Given the description of an element on the screen output the (x, y) to click on. 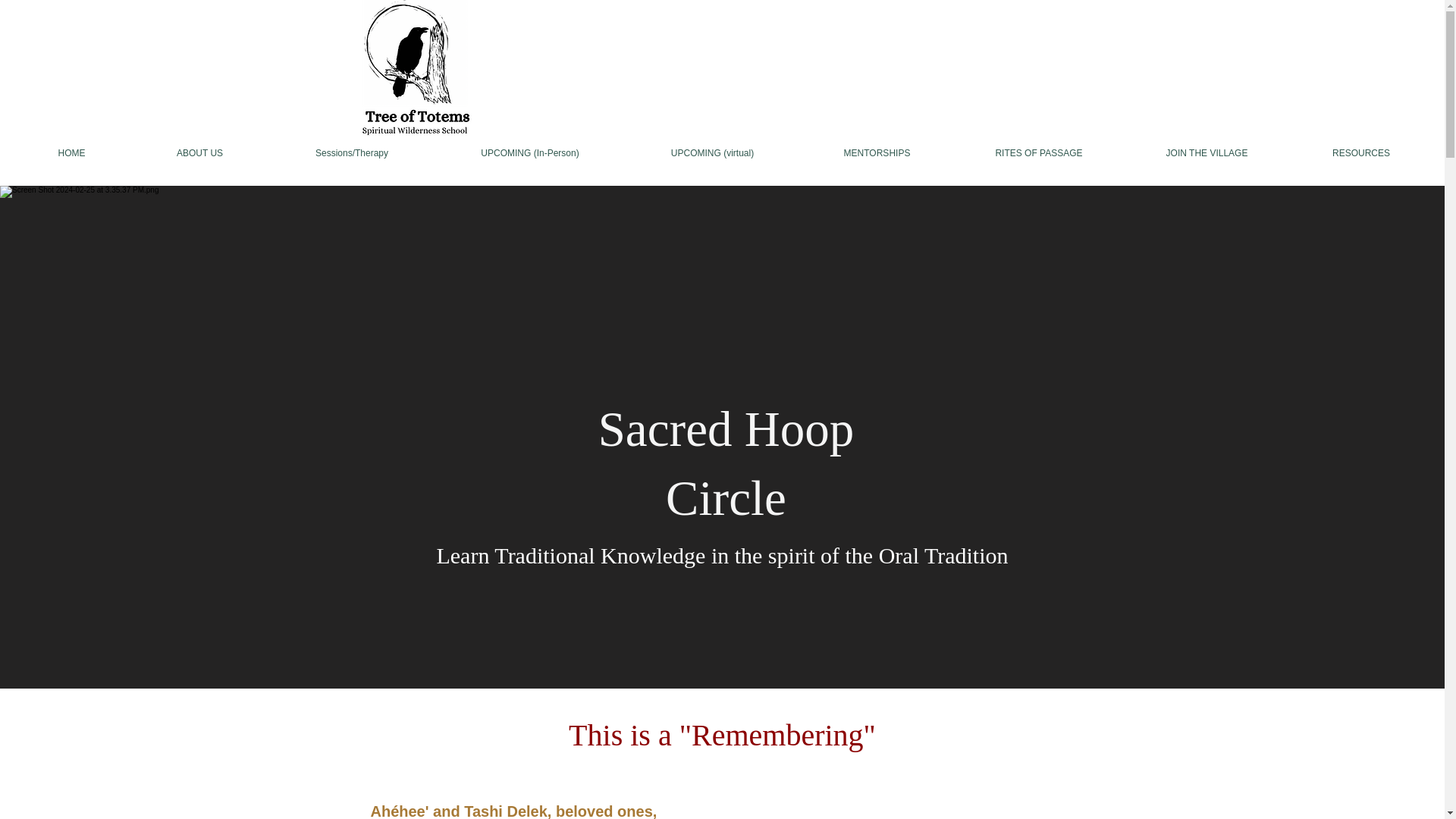
HOME (71, 153)
JOIN THE VILLAGE (1207, 153)
